Given the description of an element on the screen output the (x, y) to click on. 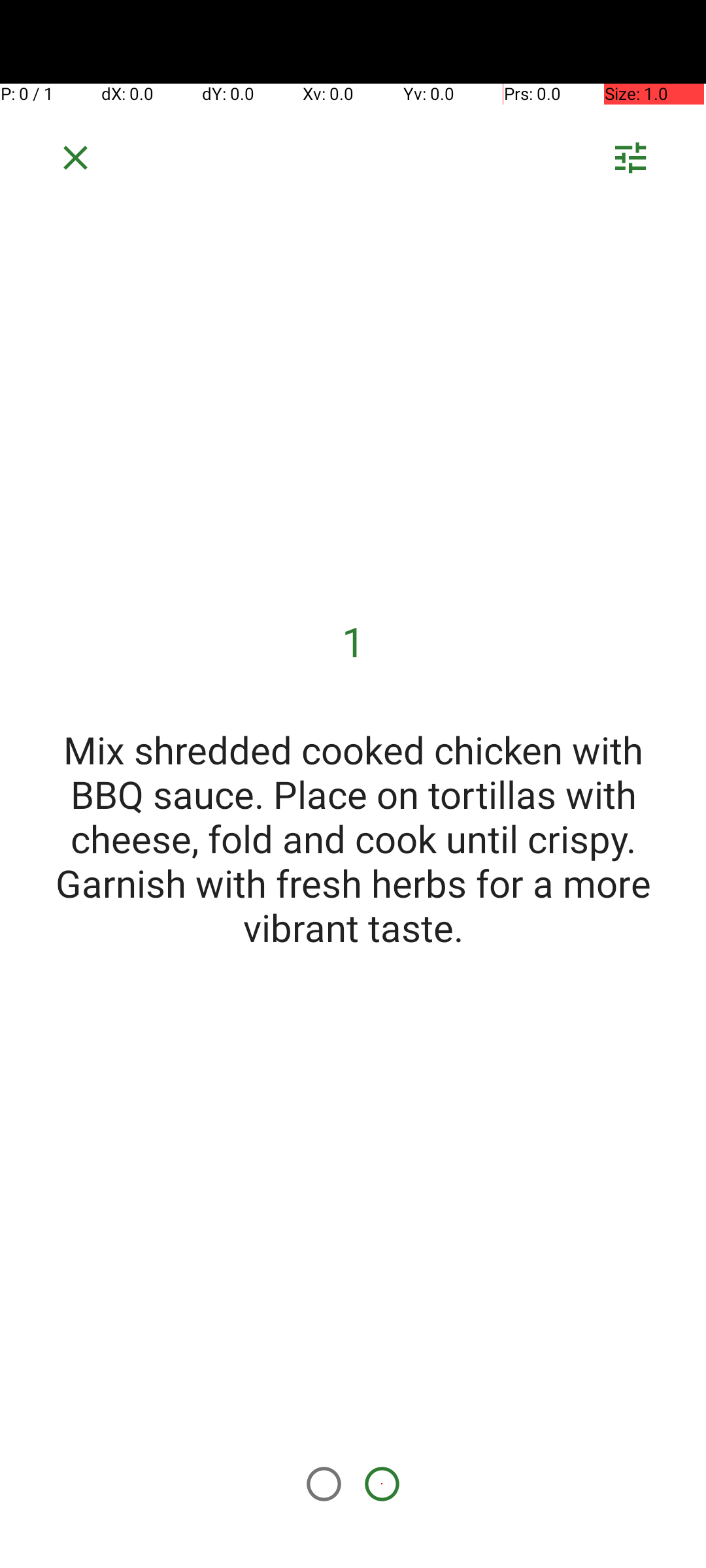
Mix shredded cooked chicken with BBQ sauce. Place on tortillas with cheese, fold and cook until crispy. Garnish with fresh herbs for a more vibrant taste. Element type: android.widget.TextView (352, 837)
